Given the description of an element on the screen output the (x, y) to click on. 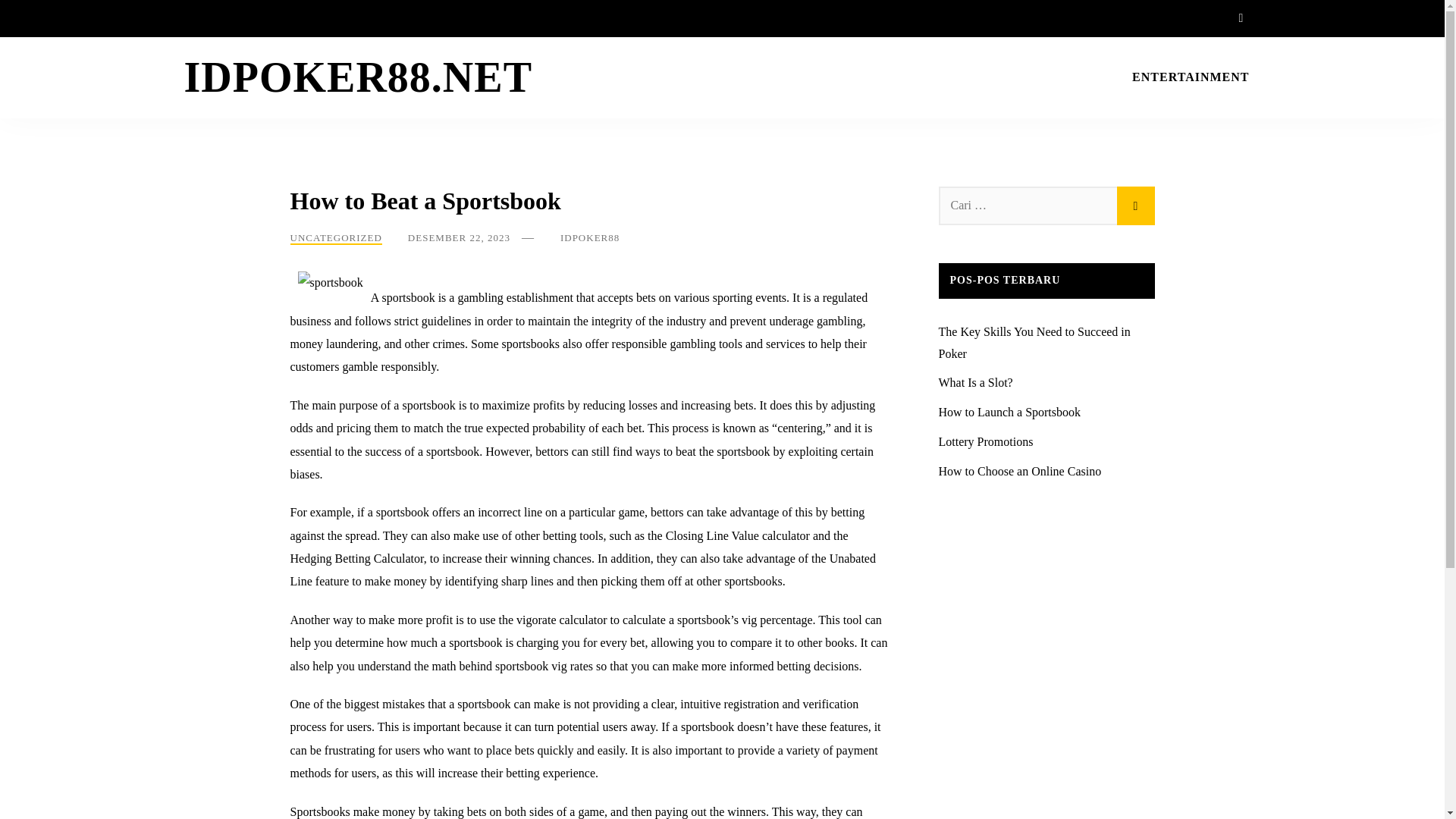
Cari (1135, 205)
How to Launch a Sportsbook (1010, 411)
ENTERTAINMENT (1190, 77)
The Key Skills You Need to Succeed in Poker (1035, 342)
DESEMBER 22, 2023 (459, 237)
What Is a Slot? (976, 382)
Cari (1135, 205)
IDPOKER88.NET (357, 77)
UNCATEGORIZED (335, 237)
Lottery Promotions (986, 440)
IDPOKER88 (590, 237)
Cari (1135, 205)
How to Choose an Online Casino (1020, 471)
